Given the description of an element on the screen output the (x, y) to click on. 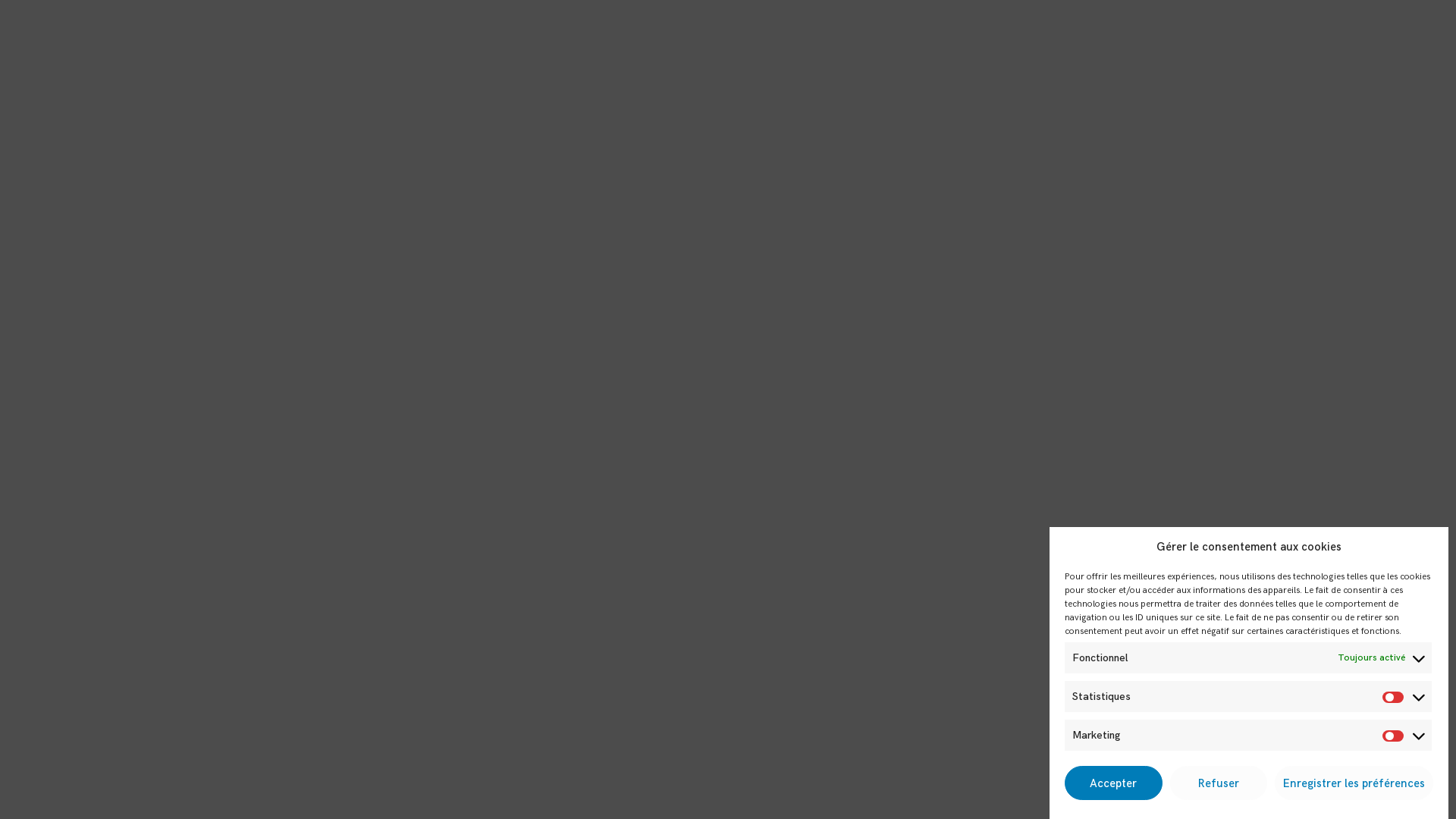
Refuser Element type: text (1218, 782)
Accepter Element type: text (1113, 782)
